Given the description of an element on the screen output the (x, y) to click on. 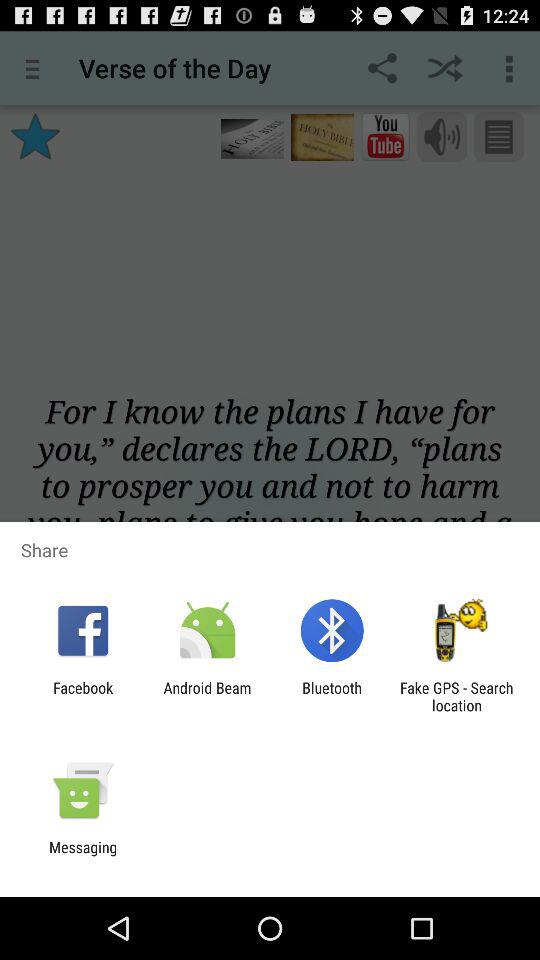
swipe until bluetooth item (331, 696)
